Given the description of an element on the screen output the (x, y) to click on. 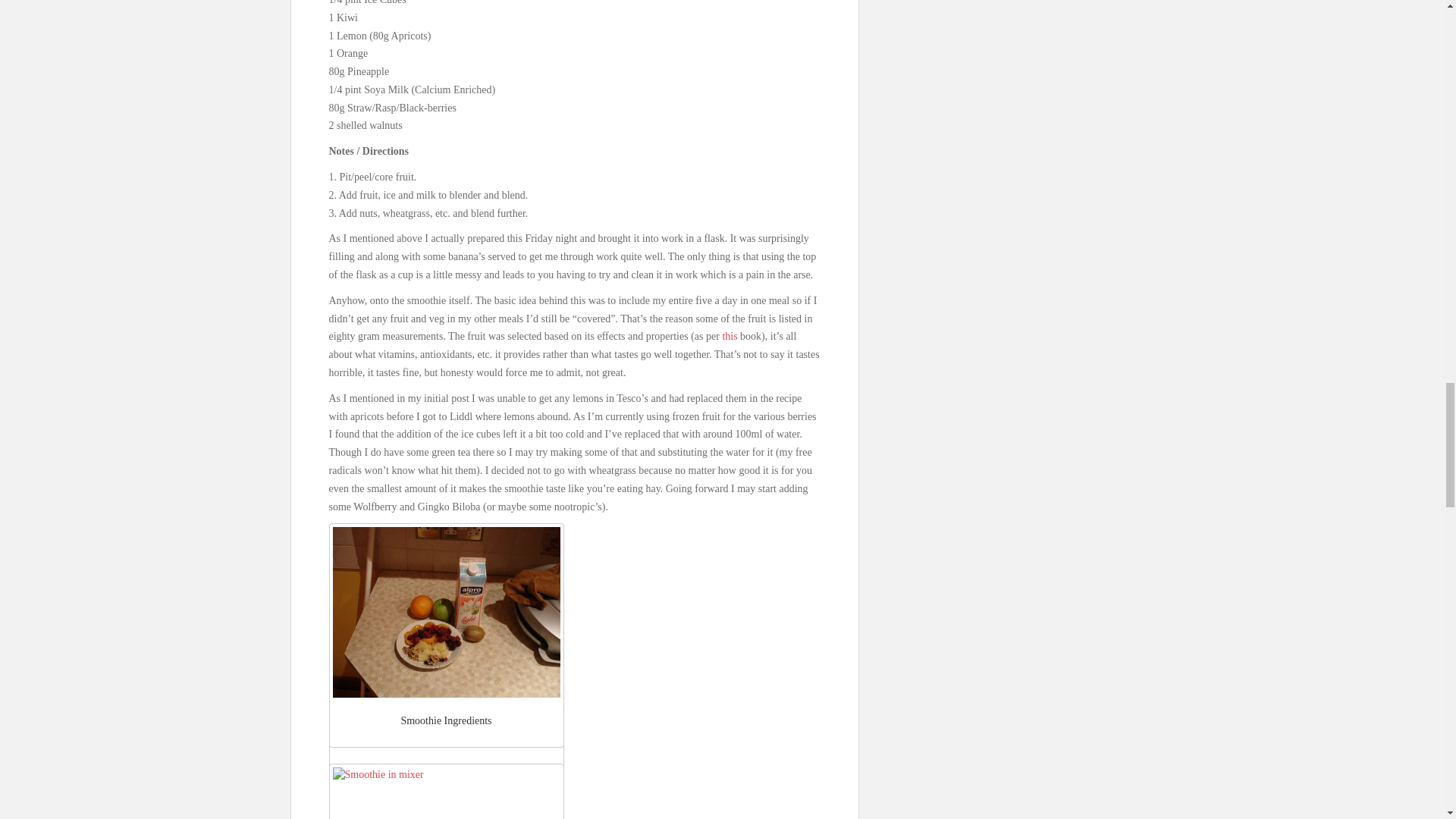
Smoothie Ingredients (445, 612)
Smoothie in mixer (445, 793)
this (729, 336)
